Given the description of an element on the screen output the (x, y) to click on. 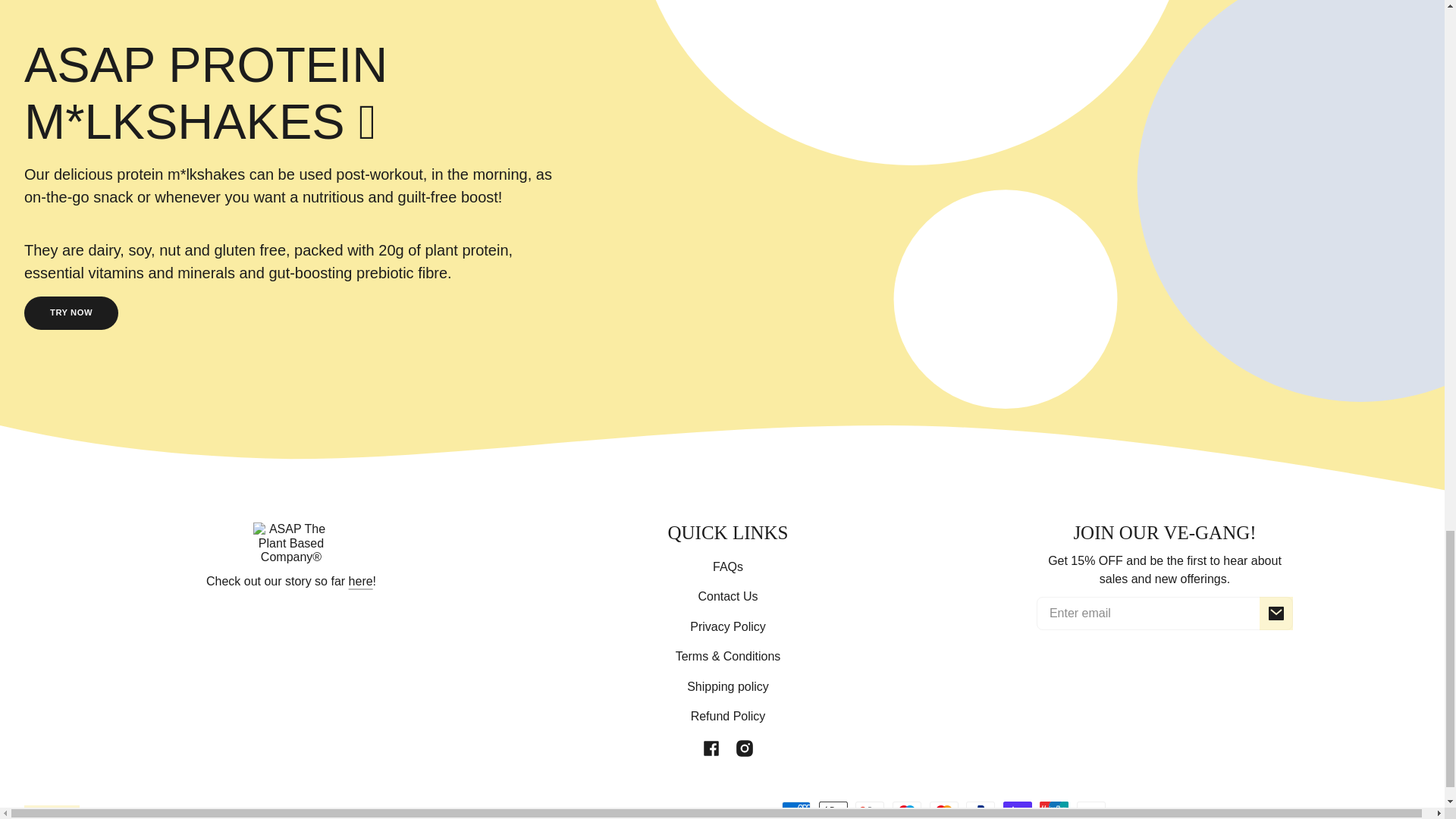
Instagram (744, 748)
Our Story (360, 581)
Visa (1091, 810)
Shipping policy (727, 686)
here (360, 581)
Contact Us (727, 596)
Apple Pay (832, 810)
PayPal (980, 810)
FAQs (727, 566)
Mastercard (944, 810)
TRY NOW (70, 313)
Maestro (906, 810)
Powered by Shopify (1383, 811)
American Express (795, 810)
Union Pay (1053, 810)
